Given the description of an element on the screen output the (x, y) to click on. 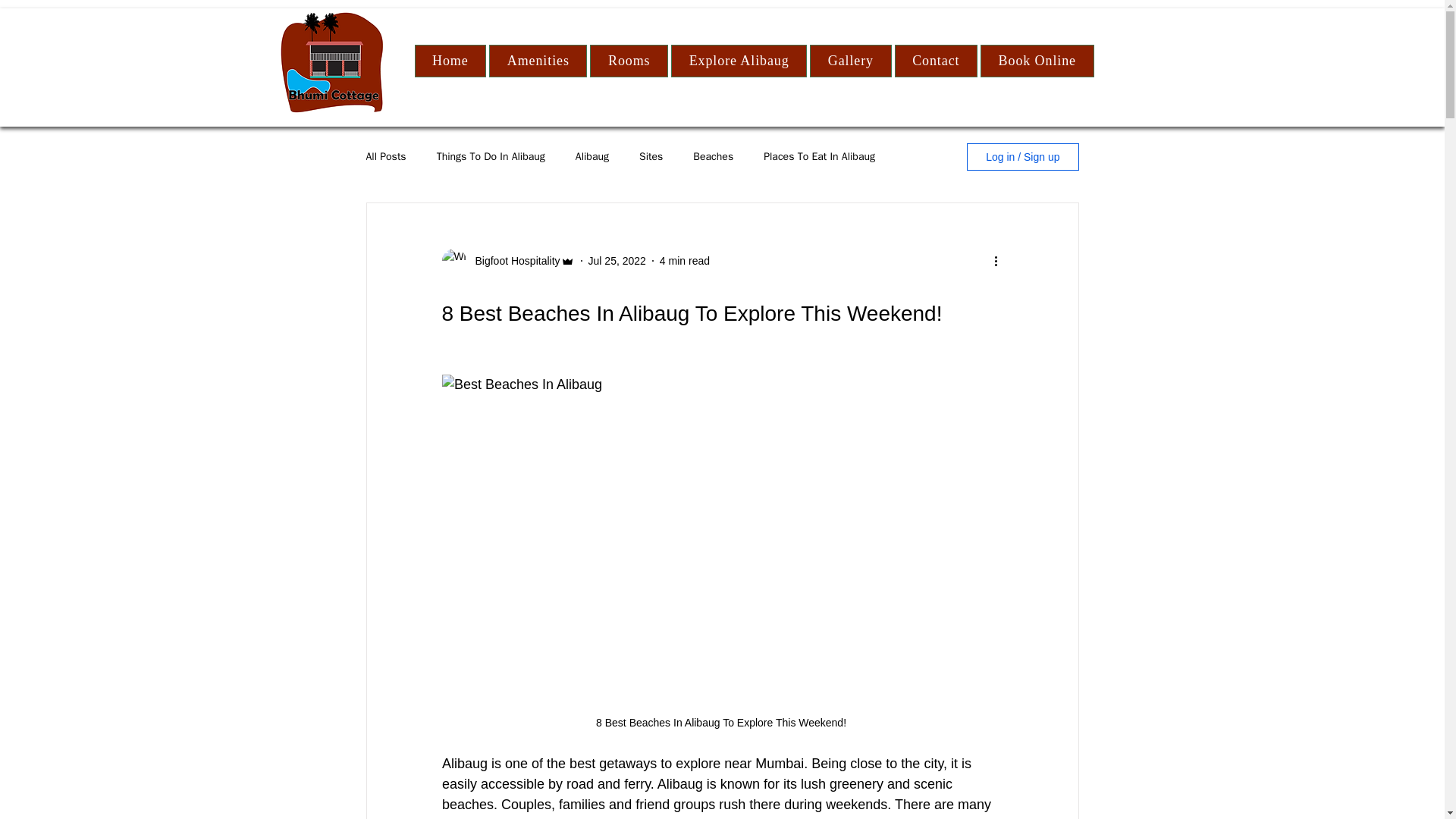
Alibaug (591, 156)
Beaches (713, 156)
Gallery (850, 60)
Rooms (628, 60)
Sites (650, 156)
4 min read (684, 260)
Contact (935, 60)
Bigfoot Hospitality (512, 261)
Things To Do In Alibaug (490, 156)
All Posts (385, 156)
